Given the description of an element on the screen output the (x, y) to click on. 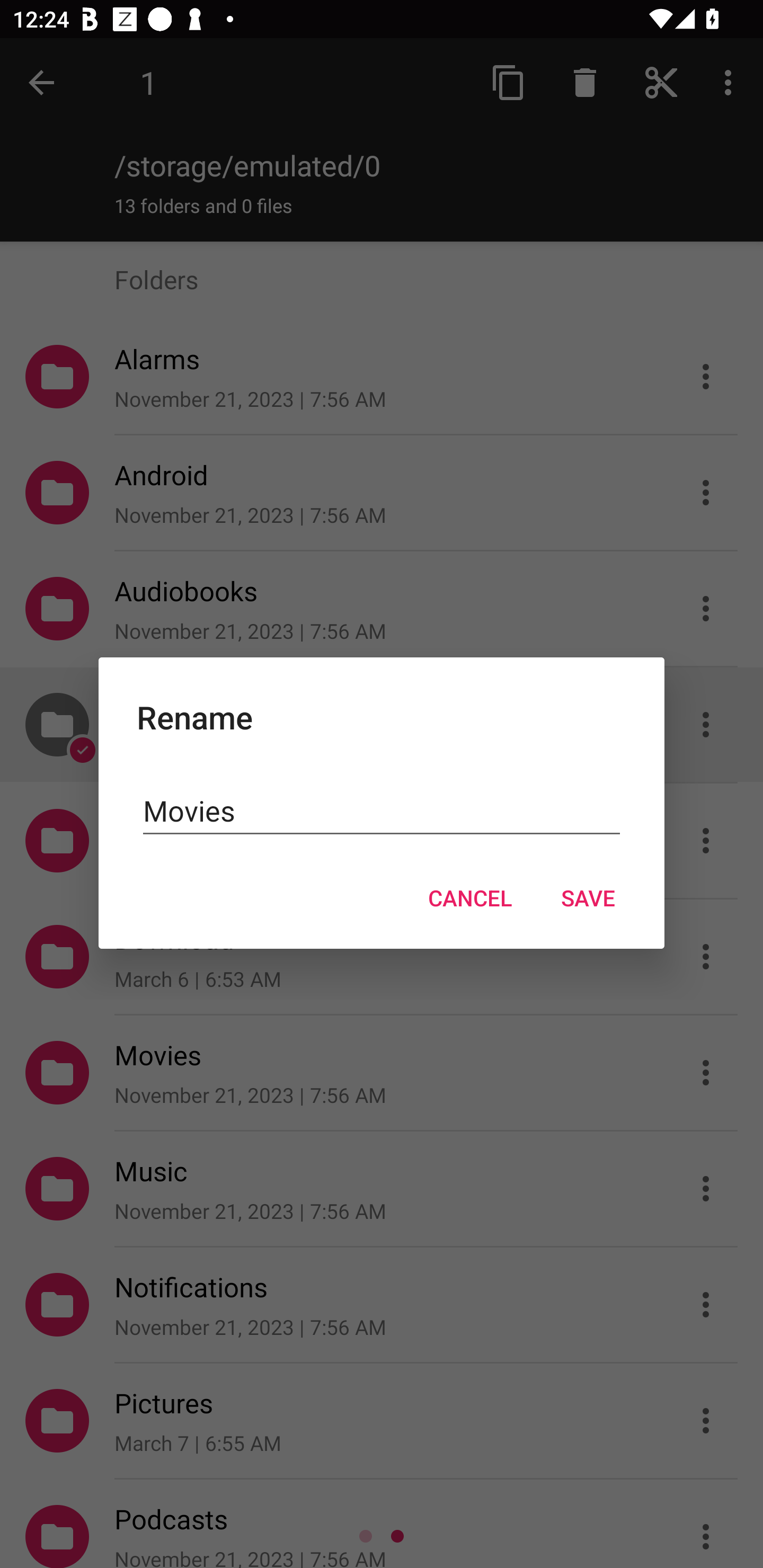
Movies (381, 810)
CANCEL (469, 897)
SAVE (588, 897)
